Given the description of an element on the screen output the (x, y) to click on. 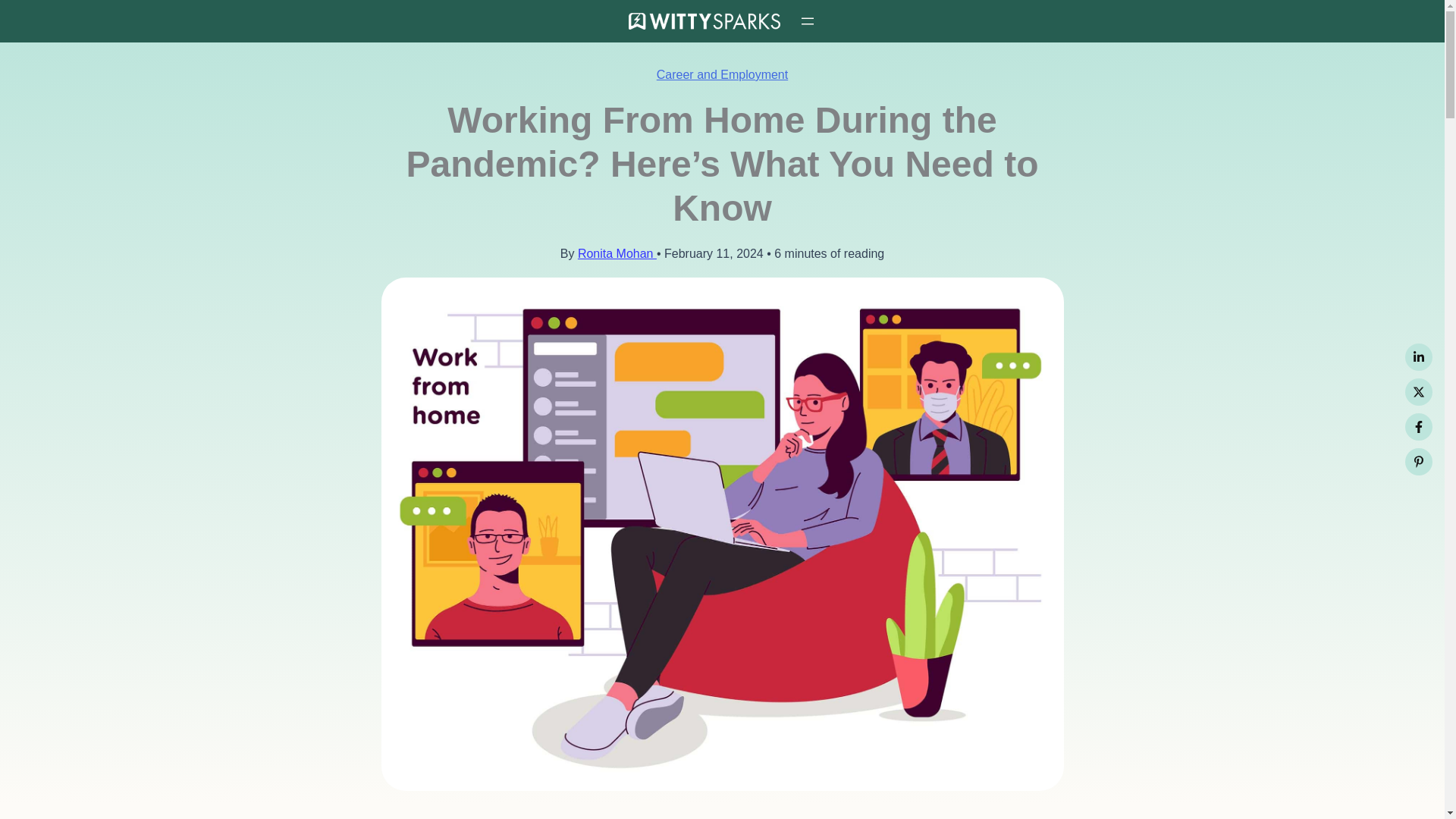
Ronita Mohan (617, 253)
View all posts by Ronita Mohan (617, 253)
Career and Employment (721, 74)
